Given the description of an element on the screen output the (x, y) to click on. 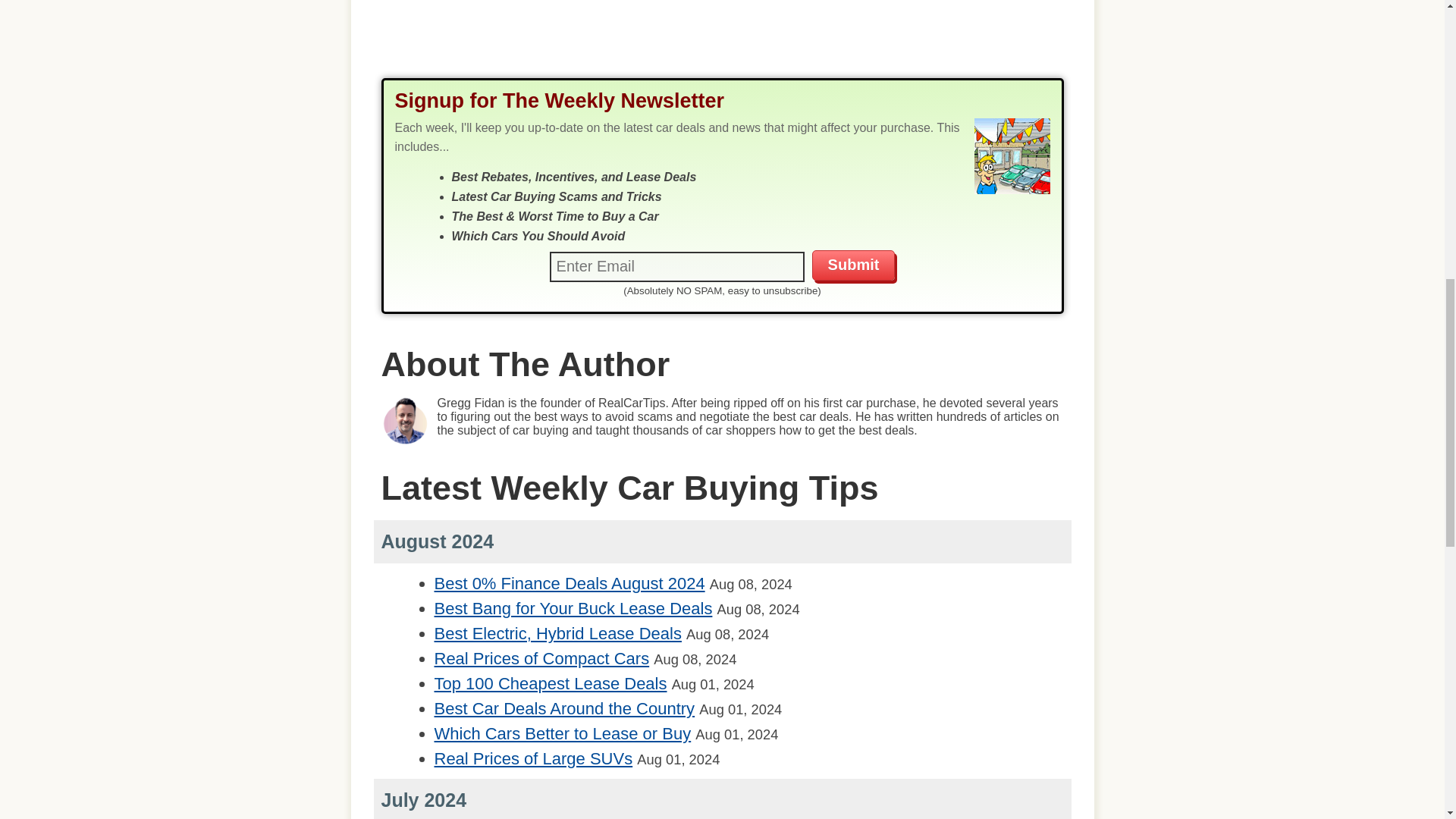
Submit (853, 265)
Real Prices of Compact Cars (541, 658)
Best Bang for Your Buck Lease Deals (572, 608)
Best Electric, Hybrid Lease Deals (557, 633)
Submit (853, 265)
Real Prices of Large SUVs (532, 758)
Best Car Deals Around the Country (563, 708)
Which Cars Better to Lease or Buy (561, 732)
Top 100 Cheapest Lease Deals (549, 683)
